Given the description of an element on the screen output the (x, y) to click on. 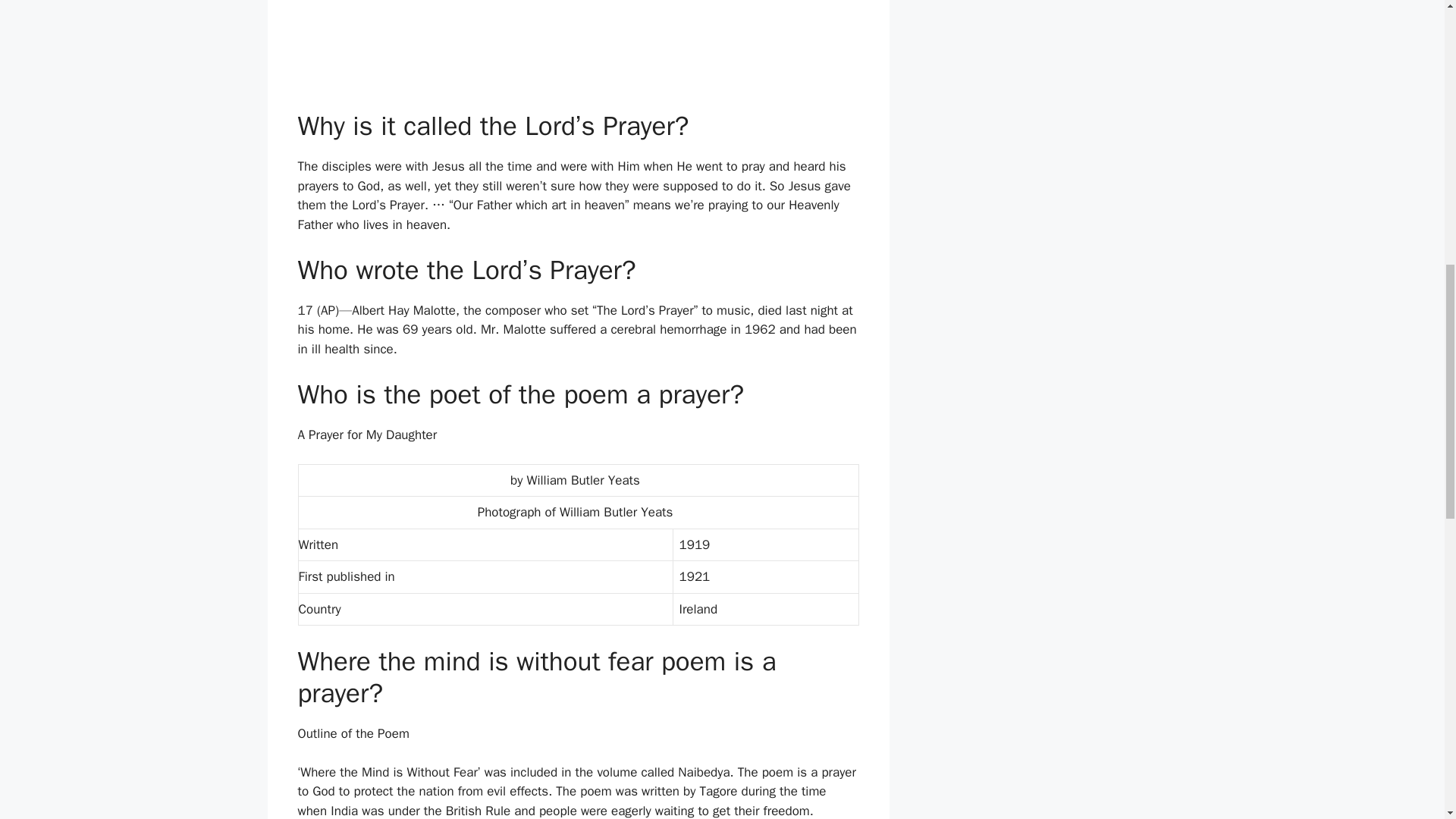
Scroll back to top (1406, 720)
